Given the description of an element on the screen output the (x, y) to click on. 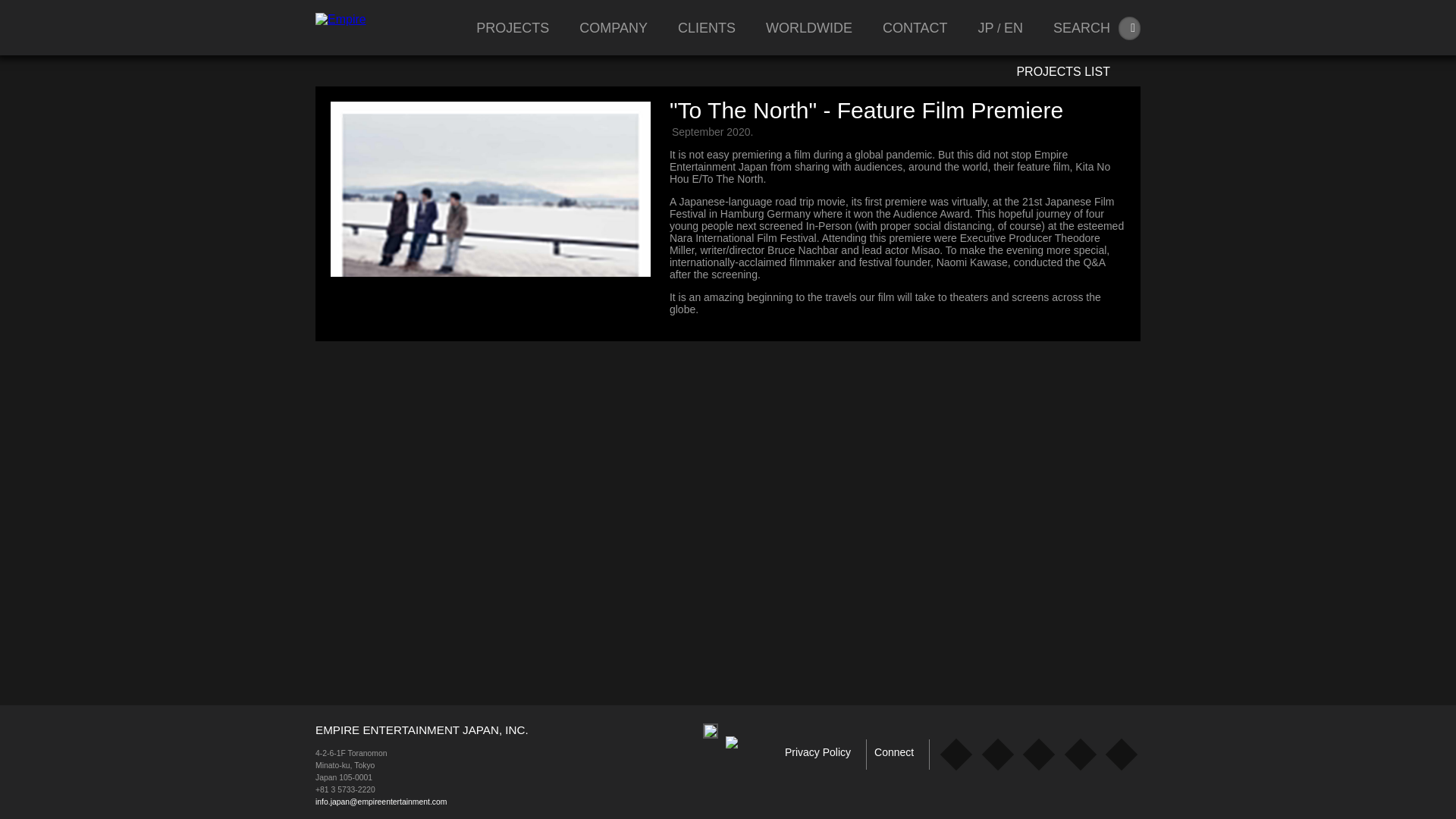
PROJECTS (512, 28)
CLIENTS (706, 28)
EN (1013, 28)
PROJECTS LIST (1074, 71)
JP (986, 28)
CONTACT (914, 28)
SEARCH (1080, 28)
WORLDWIDE (808, 28)
COMPANY (613, 28)
